Given the description of an element on the screen output the (x, y) to click on. 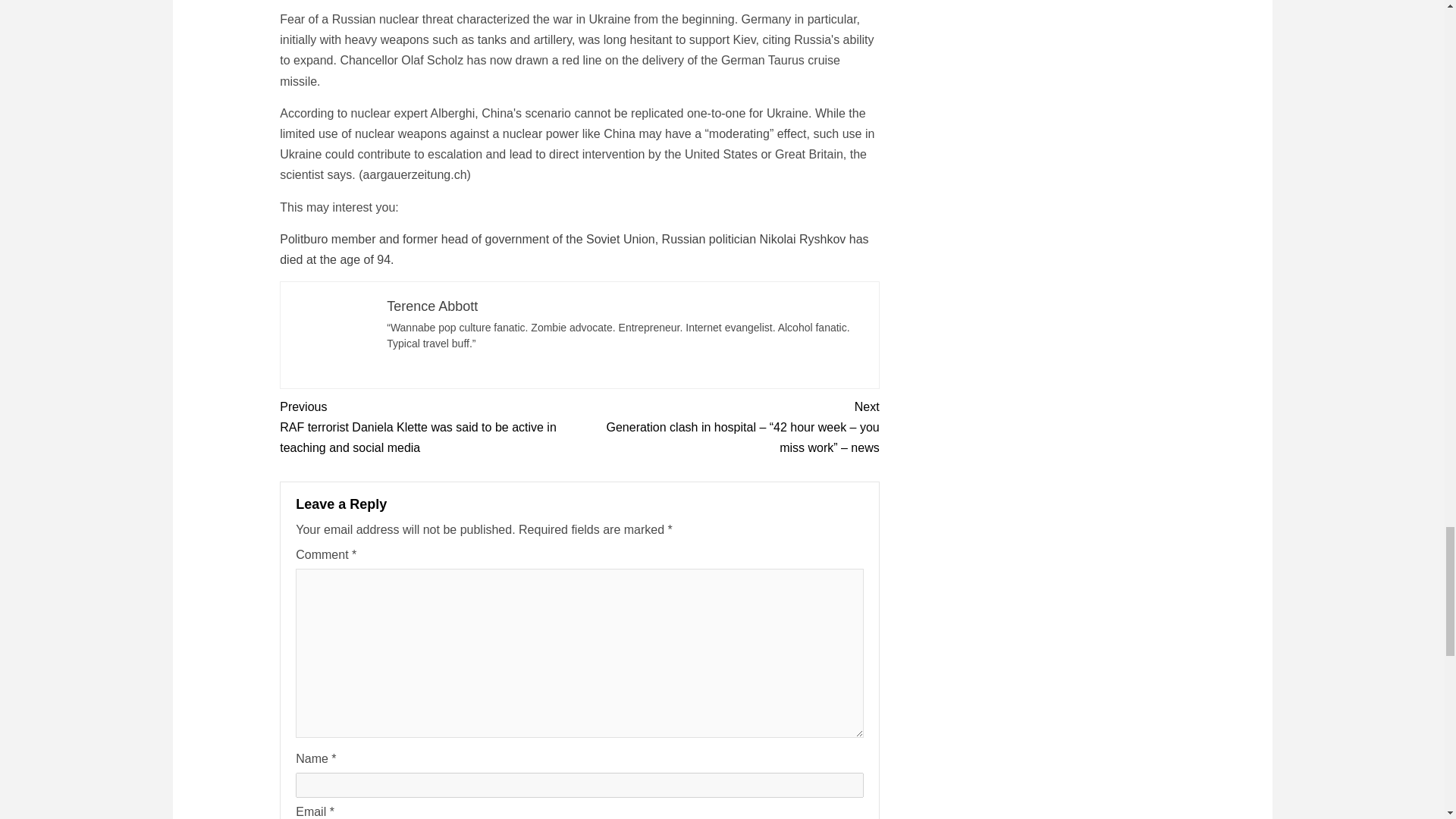
Terence Abbott (432, 305)
